Given the description of an element on the screen output the (x, y) to click on. 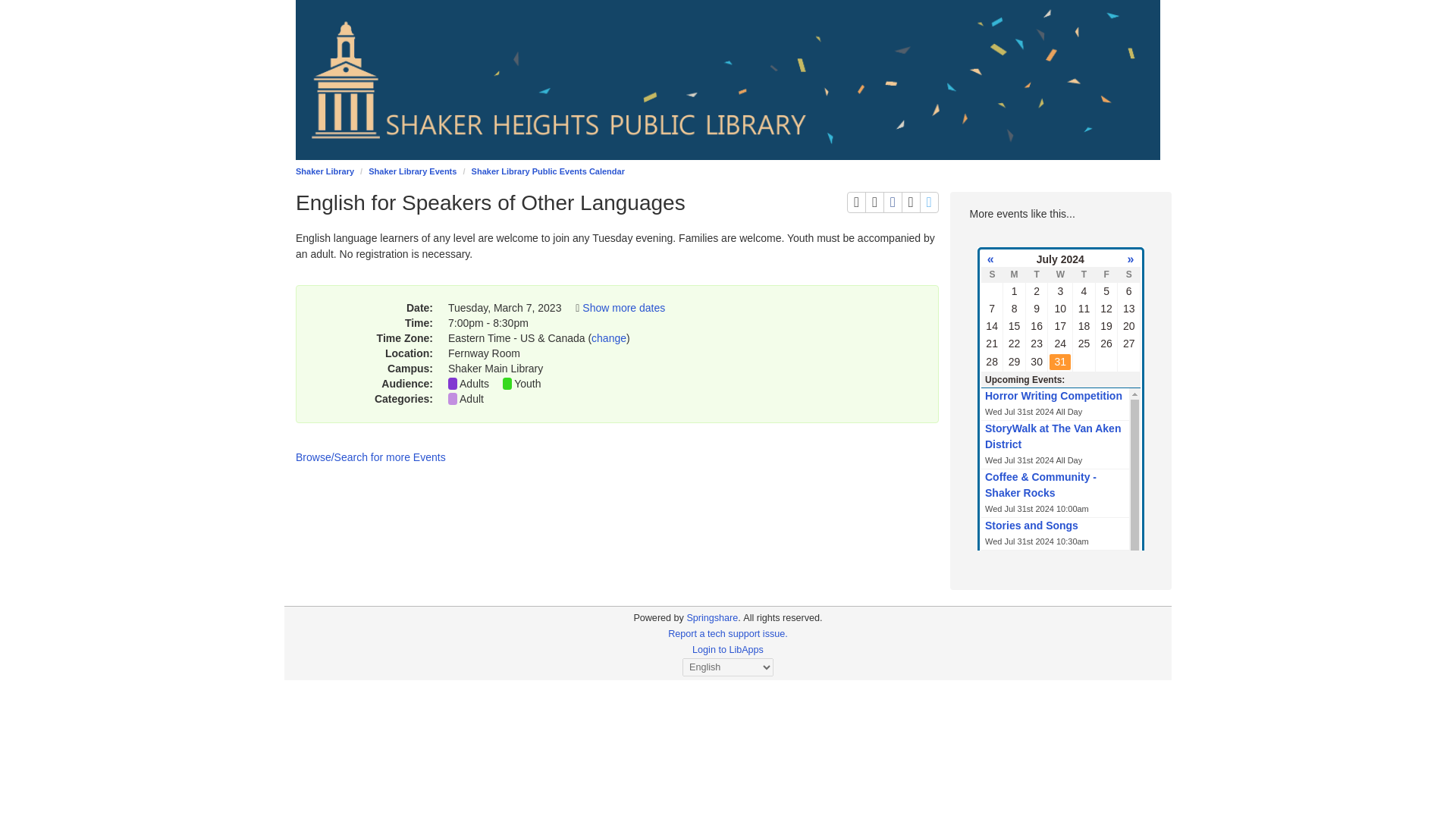
Shaker Library Events (412, 171)
Show more dates (623, 307)
Login to LibApps (727, 649)
Shaker Library Public Events Calendar (547, 171)
libcal-us-2 (658, 617)
change (608, 337)
Adults (892, 201)
Print the page (474, 383)
Shaker Library (856, 201)
Shaker Library Shaker Library Events (324, 171)
Report a tech support issue. (873, 201)
Youth (929, 201)
